Given the description of an element on the screen output the (x, y) to click on. 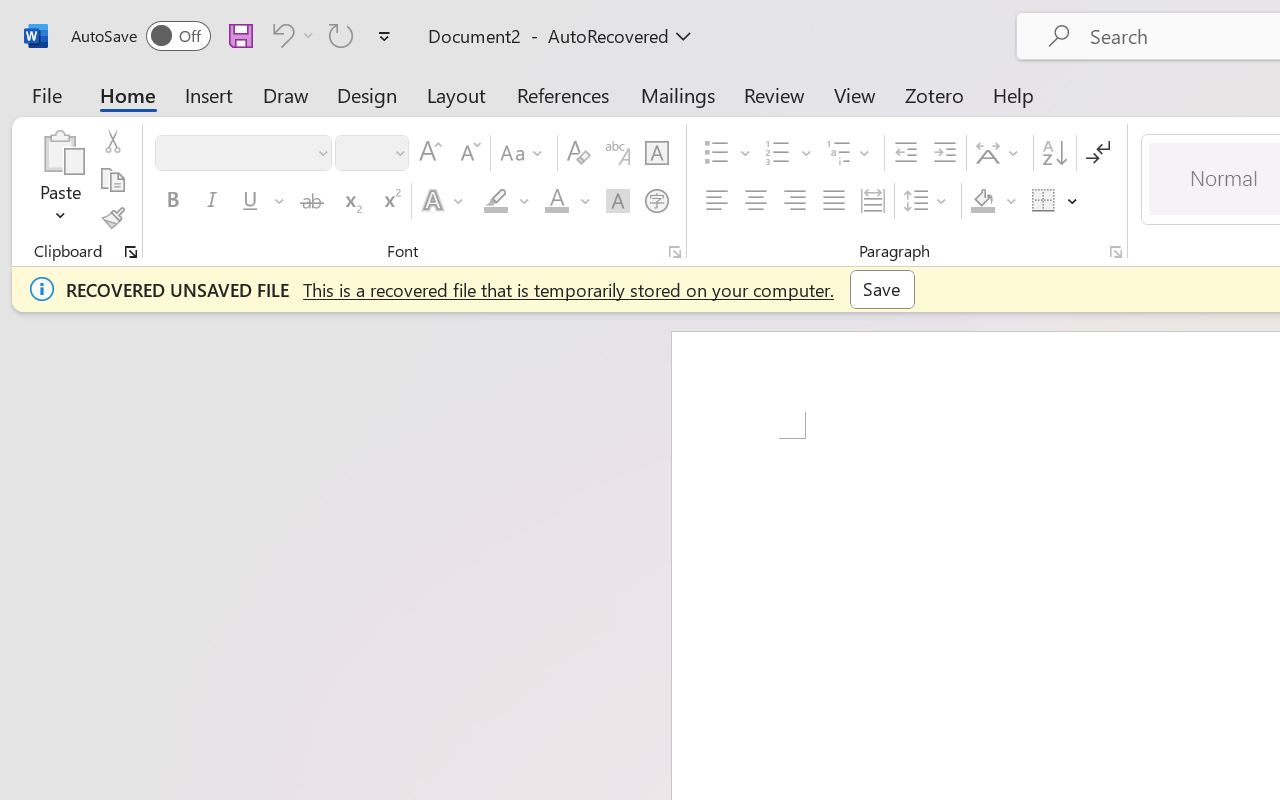
Open (399, 152)
Align Right (794, 201)
Help (1013, 94)
Strikethrough (312, 201)
Enclose Characters... (656, 201)
Font Color RGB(255, 0, 0) (556, 201)
Sort... (1054, 153)
